Given the description of an element on the screen output the (x, y) to click on. 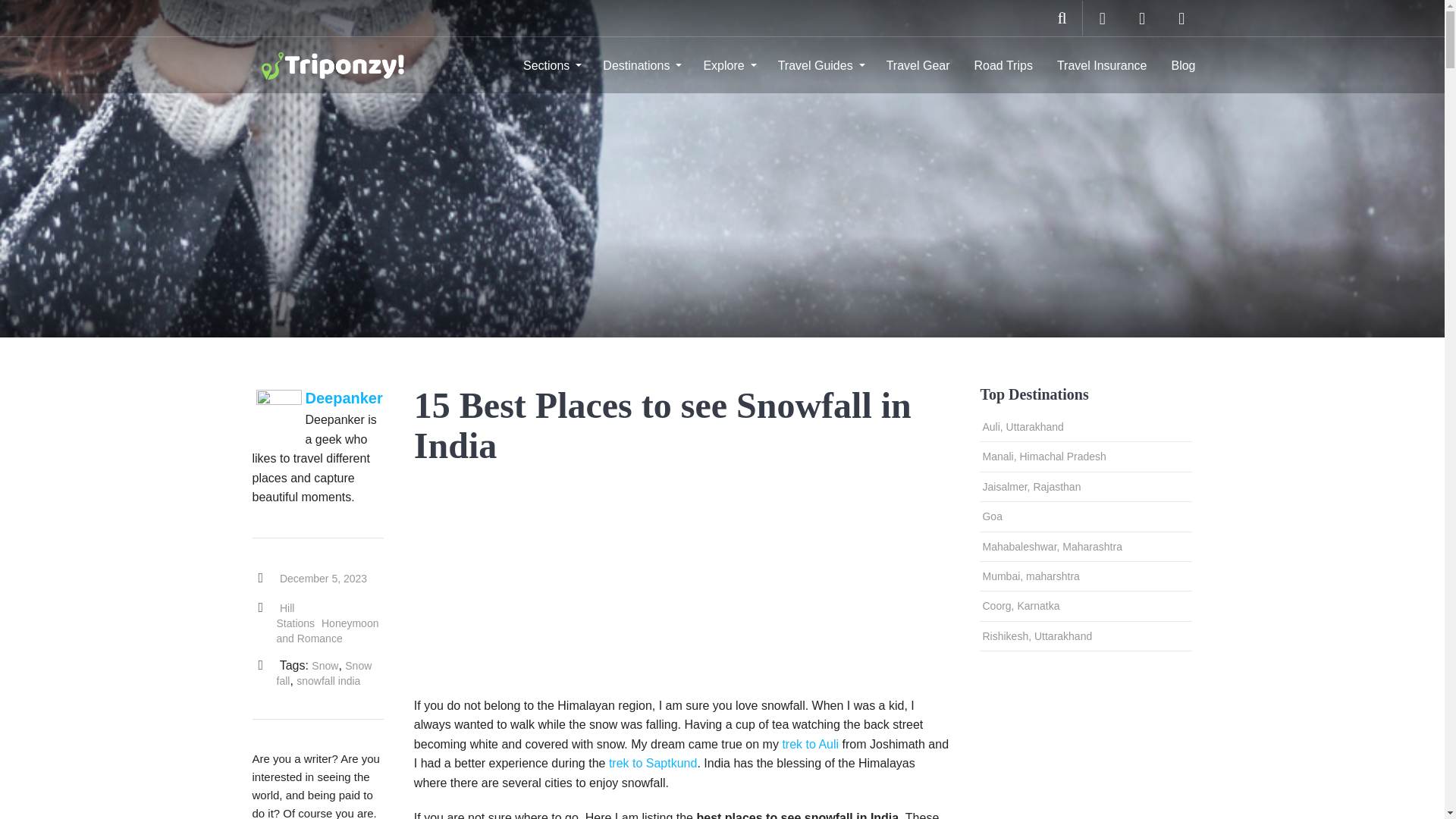
Posts by Olivia (342, 397)
Explore (727, 64)
Advertisement (614, 581)
Sections (551, 64)
Travel Guides (820, 64)
trek to Saptkund (652, 762)
Road Trips (1003, 64)
Advertisement (1056, 746)
  Triponzy! (334, 63)
Travel Insurance (1101, 64)
trek to Auli (809, 744)
Destinations (640, 64)
Travel Gear (918, 64)
